Given the description of an element on the screen output the (x, y) to click on. 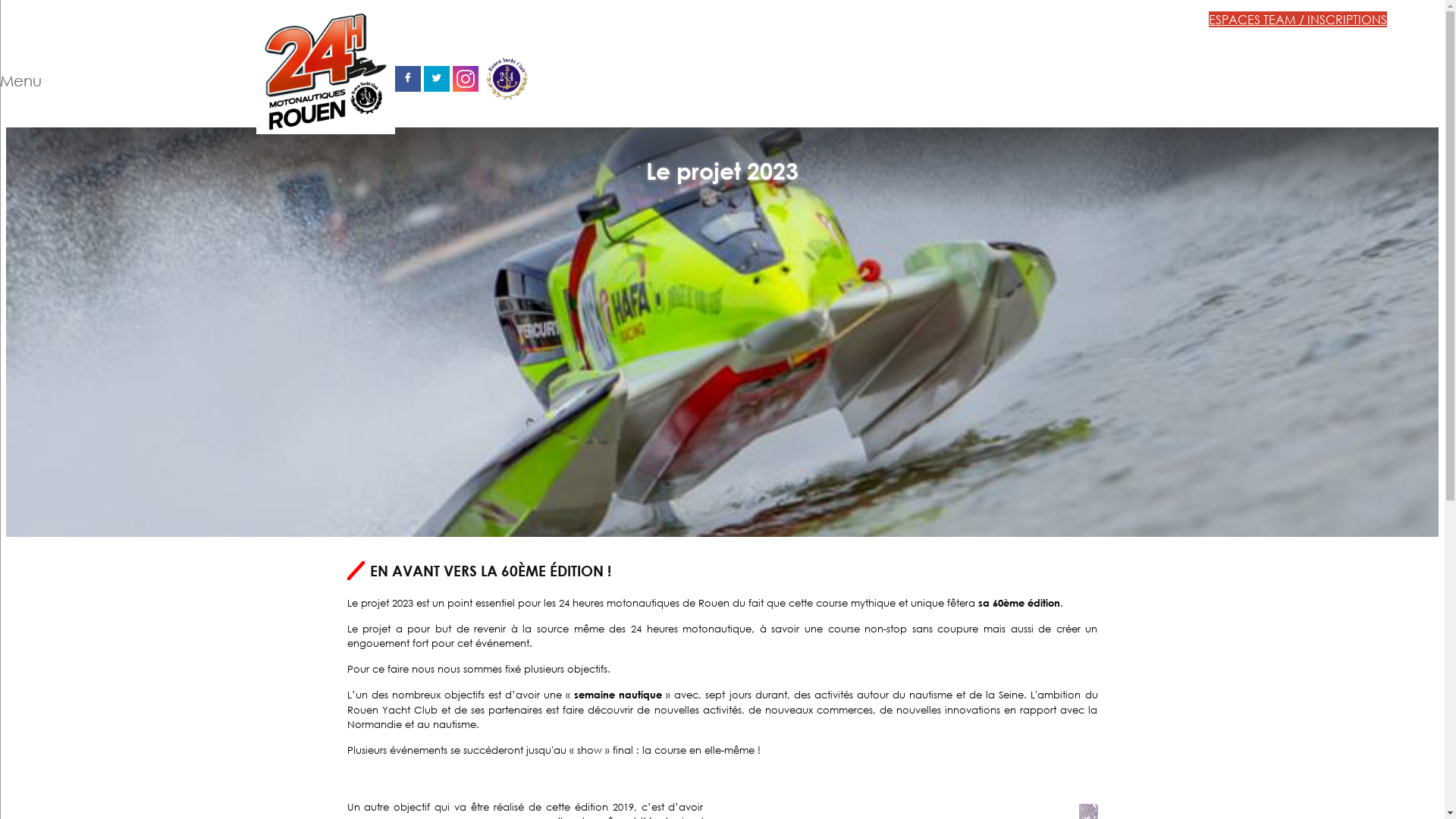
Menu Element type: text (94, 53)
ESPACES TEAM / INSCRIPTIONS Element type: text (1297, 19)
Menu Element type: text (20, 79)
